Given the description of an element on the screen output the (x, y) to click on. 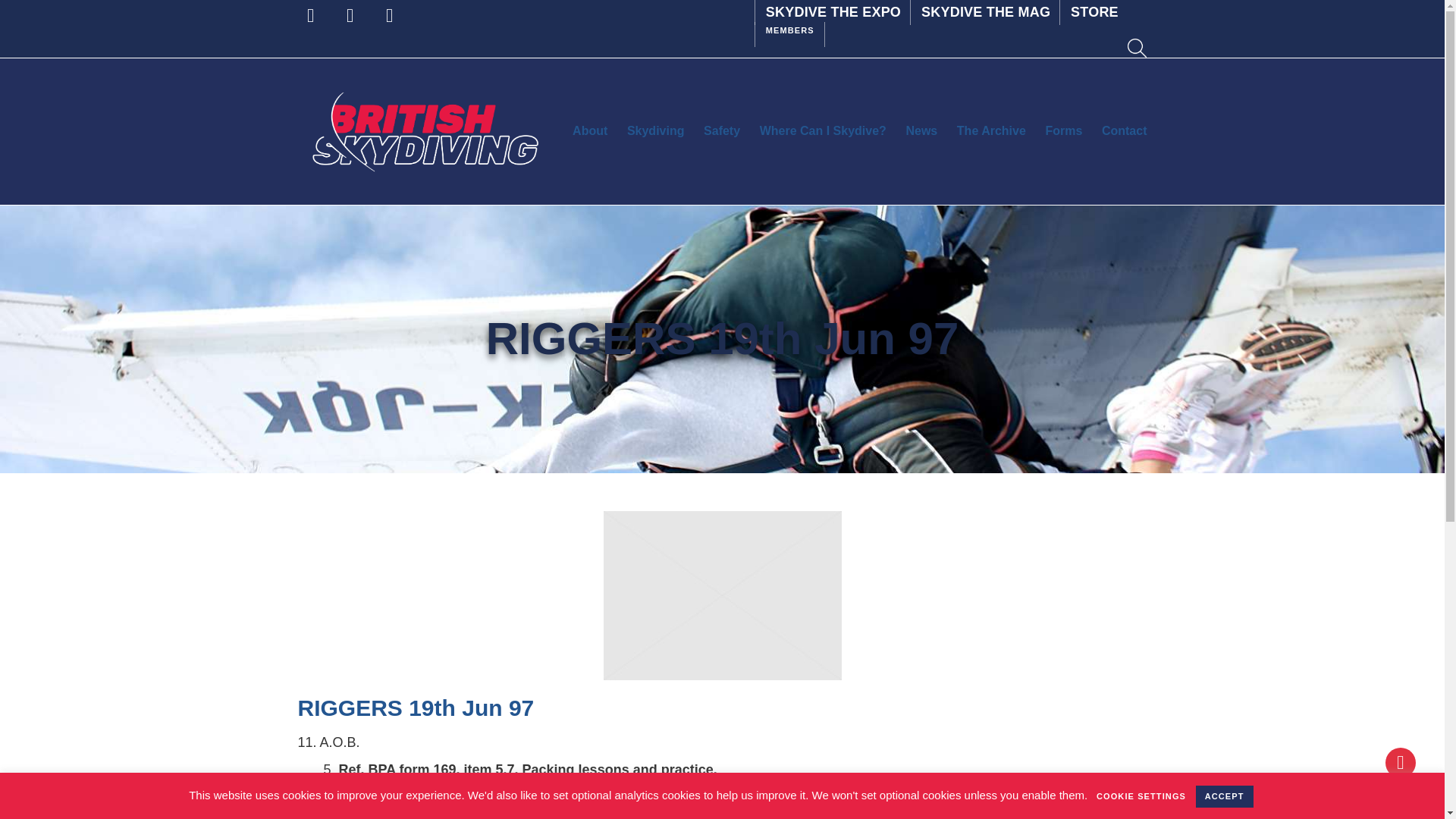
SKYDIVE THE EXPO (832, 11)
STORE (1092, 11)
SKYDIVE THE MAG (984, 11)
MEMBERS (789, 29)
